Given the description of an element on the screen output the (x, y) to click on. 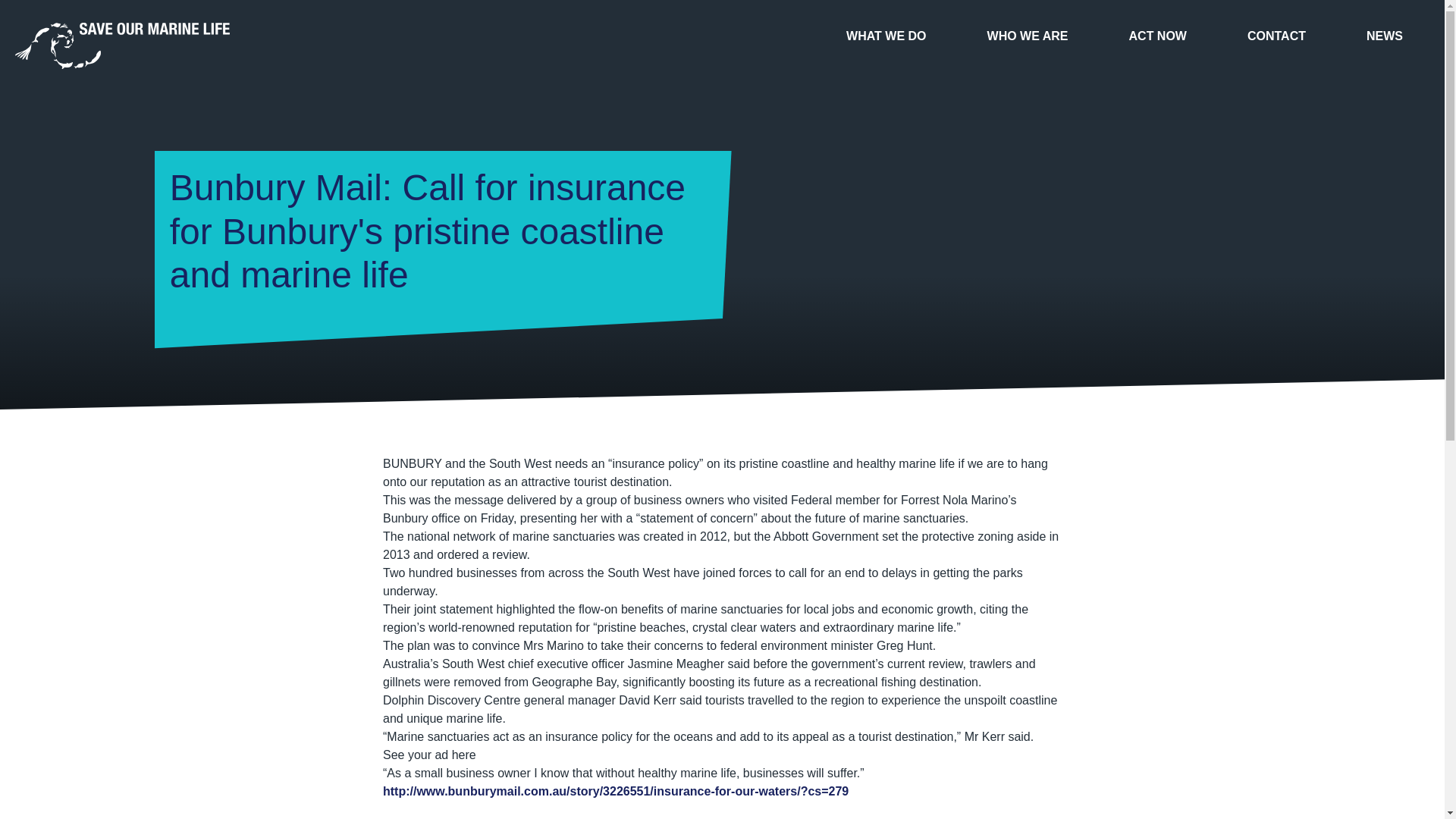
ACT NOW (1158, 36)
WHO WE ARE (1027, 36)
NEWS (1384, 36)
WHAT WE DO (885, 36)
CONTACT (1276, 36)
